Given the description of an element on the screen output the (x, y) to click on. 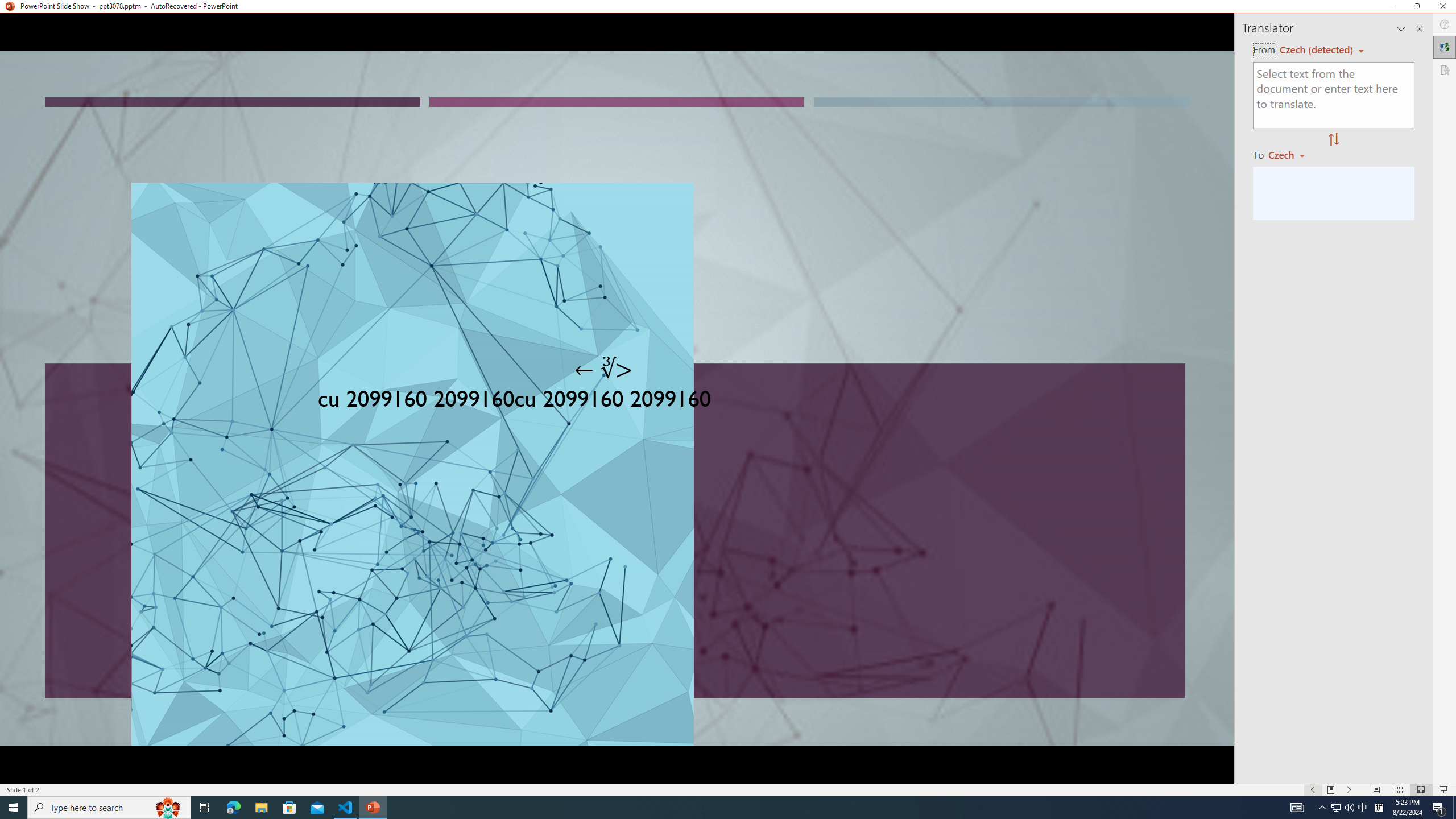
Menu On (1331, 790)
Slide Show Previous On (1313, 790)
Slide Show Next On (1349, 790)
Czech (1291, 154)
Czech (detected) (1317, 50)
Swap "from" and "to" languages. (1333, 140)
